Given the description of an element on the screen output the (x, y) to click on. 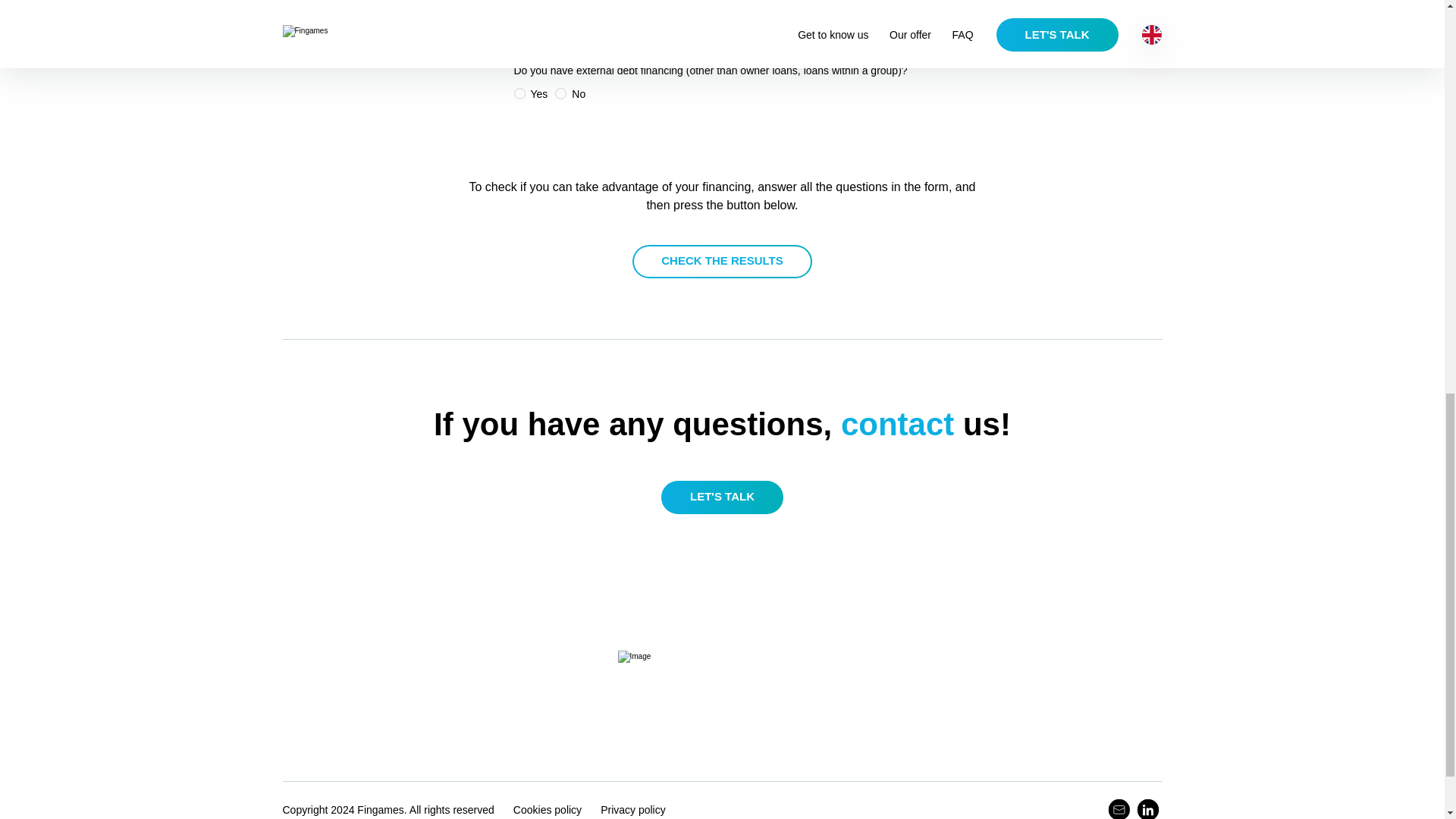
LET'S TALK (722, 497)
Privacy policy (632, 810)
true (519, 46)
false (560, 46)
Cookies policy (546, 810)
true (519, 93)
CHECK THE RESULTS (721, 260)
false (560, 93)
